Given the description of an element on the screen output the (x, y) to click on. 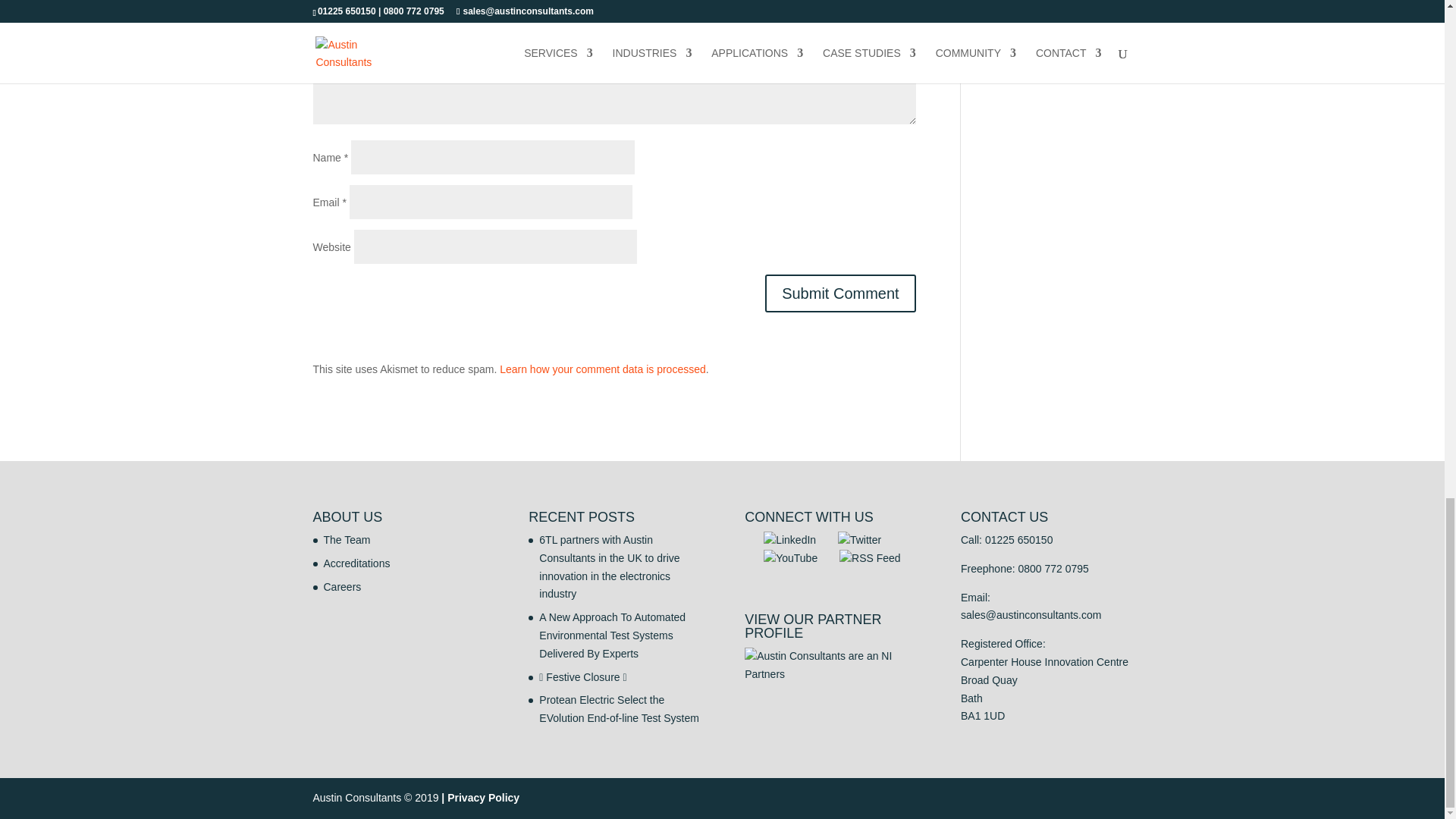
RSS Feed (870, 558)
Submit Comment (840, 293)
Twitter (859, 540)
LinkedIn (788, 540)
YouTube (789, 558)
